Given the description of an element on the screen output the (x, y) to click on. 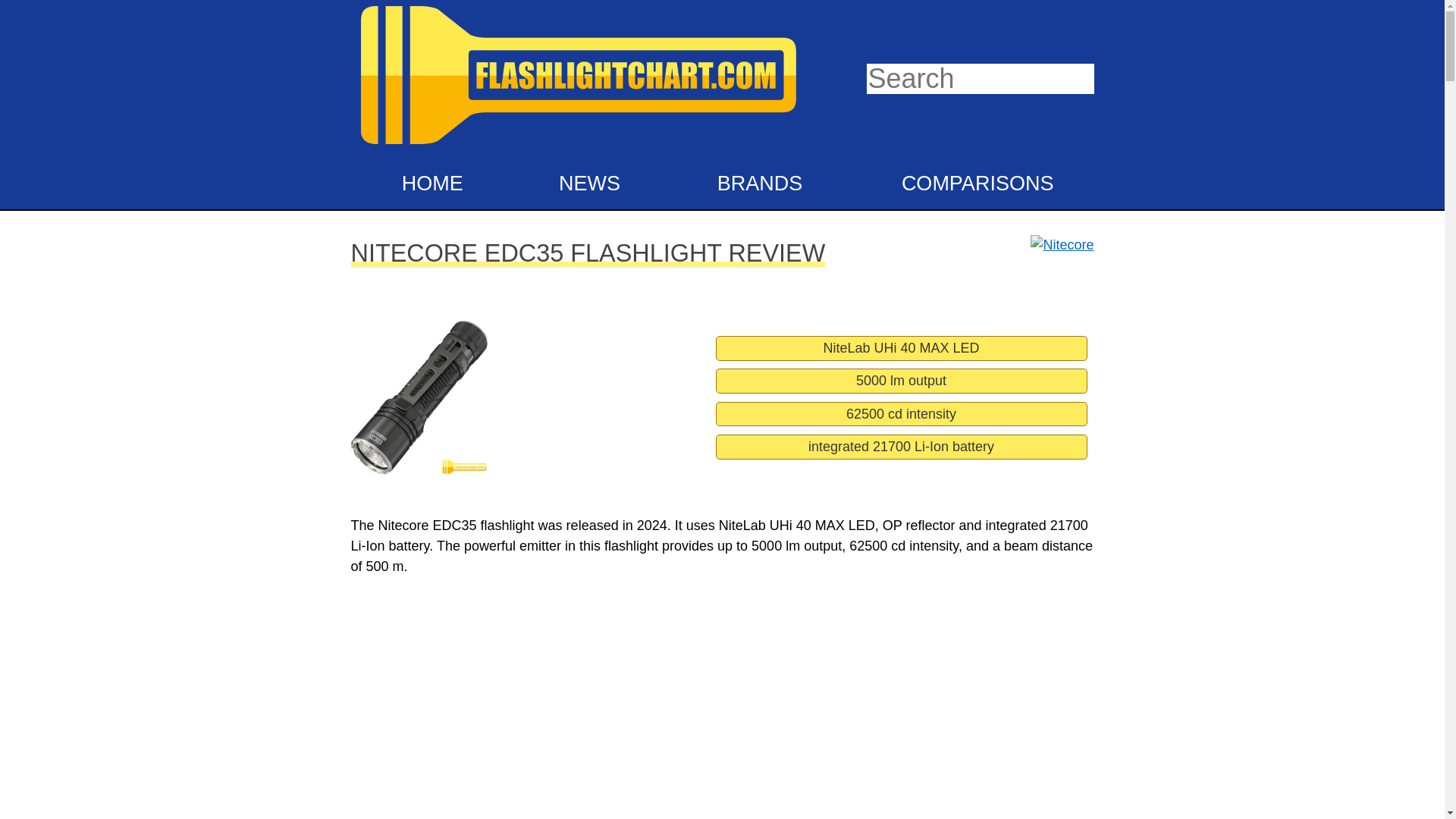
Home (429, 183)
HOME (429, 183)
NEWS (586, 183)
BRANDS (755, 183)
COMPARISONS (969, 183)
Nitecore flashlights (1058, 248)
FlashlightChart.com Home (577, 146)
Popular comparisons (969, 183)
Flashlight news (586, 183)
Flashlight brands (755, 183)
